Given the description of an element on the screen output the (x, y) to click on. 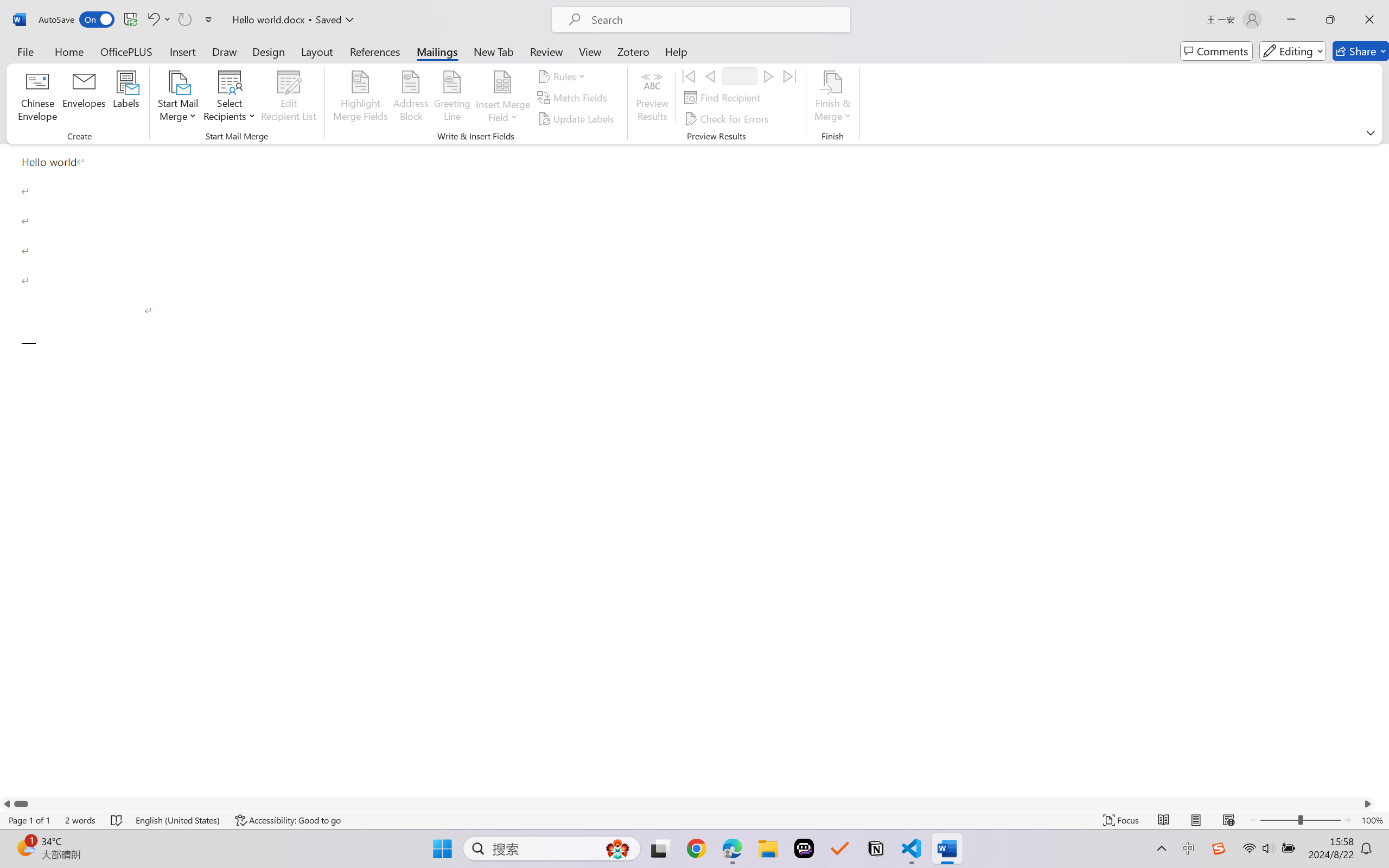
View (589, 51)
Highlight Merge Fields (360, 97)
Address Block... (410, 97)
OfficePLUS (126, 51)
Select Recipients (229, 97)
Review (546, 51)
Finish & Merge (832, 97)
Zotero (632, 51)
Undo Paragraph Formatting (152, 19)
Zoom 100% (1372, 819)
Web Layout (1228, 819)
More Options (502, 112)
Quick Access Toolbar (127, 19)
Greeting Line... (451, 97)
Column left (6, 803)
